Given the description of an element on the screen output the (x, y) to click on. 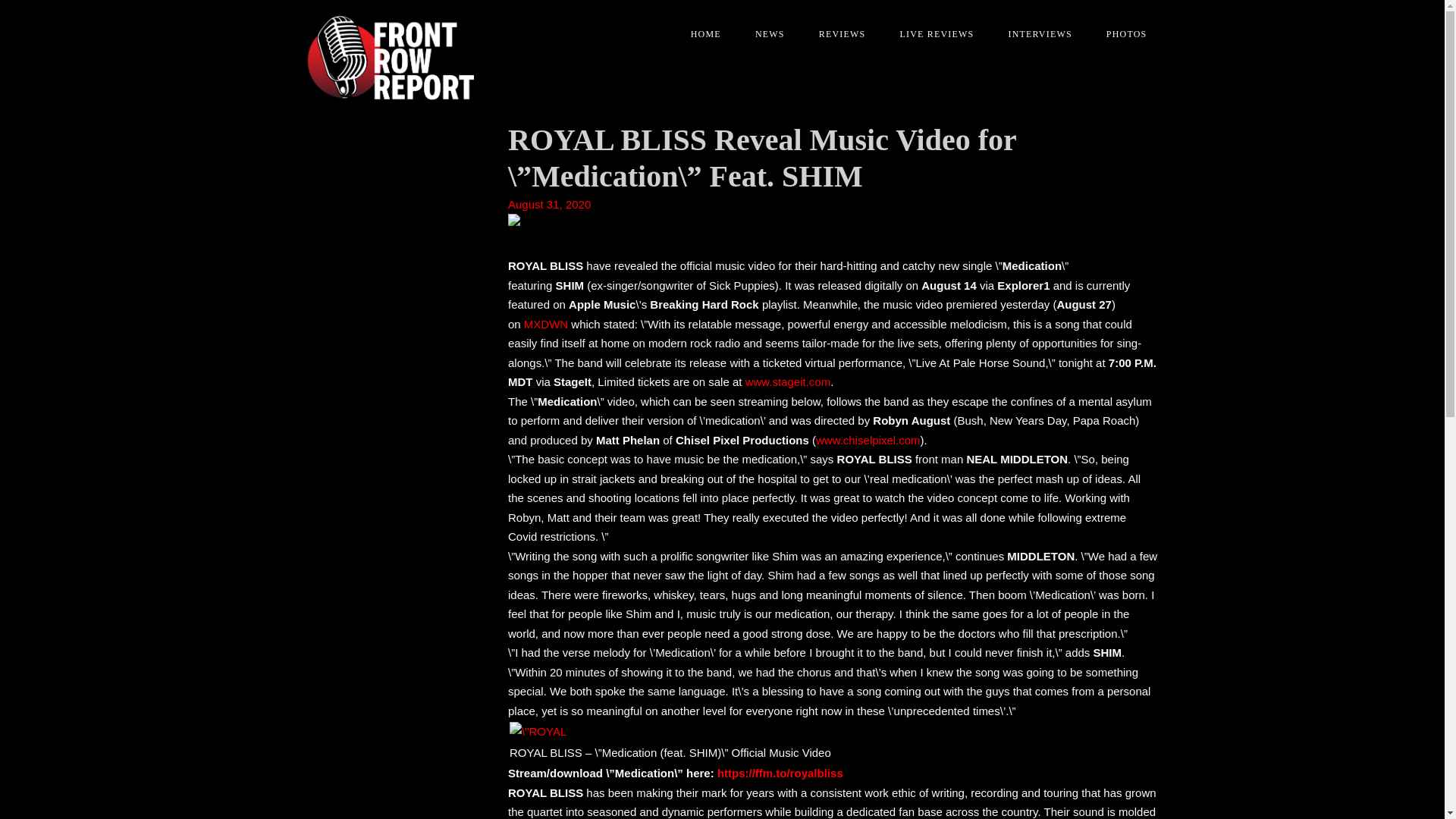
NEWS (764, 34)
INTERVIEWS (1034, 34)
REVIEWS (836, 34)
PHOTOS (1120, 34)
www.stageit.com (788, 381)
LIVE REVIEWS (930, 34)
news (764, 34)
www.chiselpixel.com (867, 440)
HOME (700, 34)
MXDWN (545, 323)
